Given the description of an element on the screen output the (x, y) to click on. 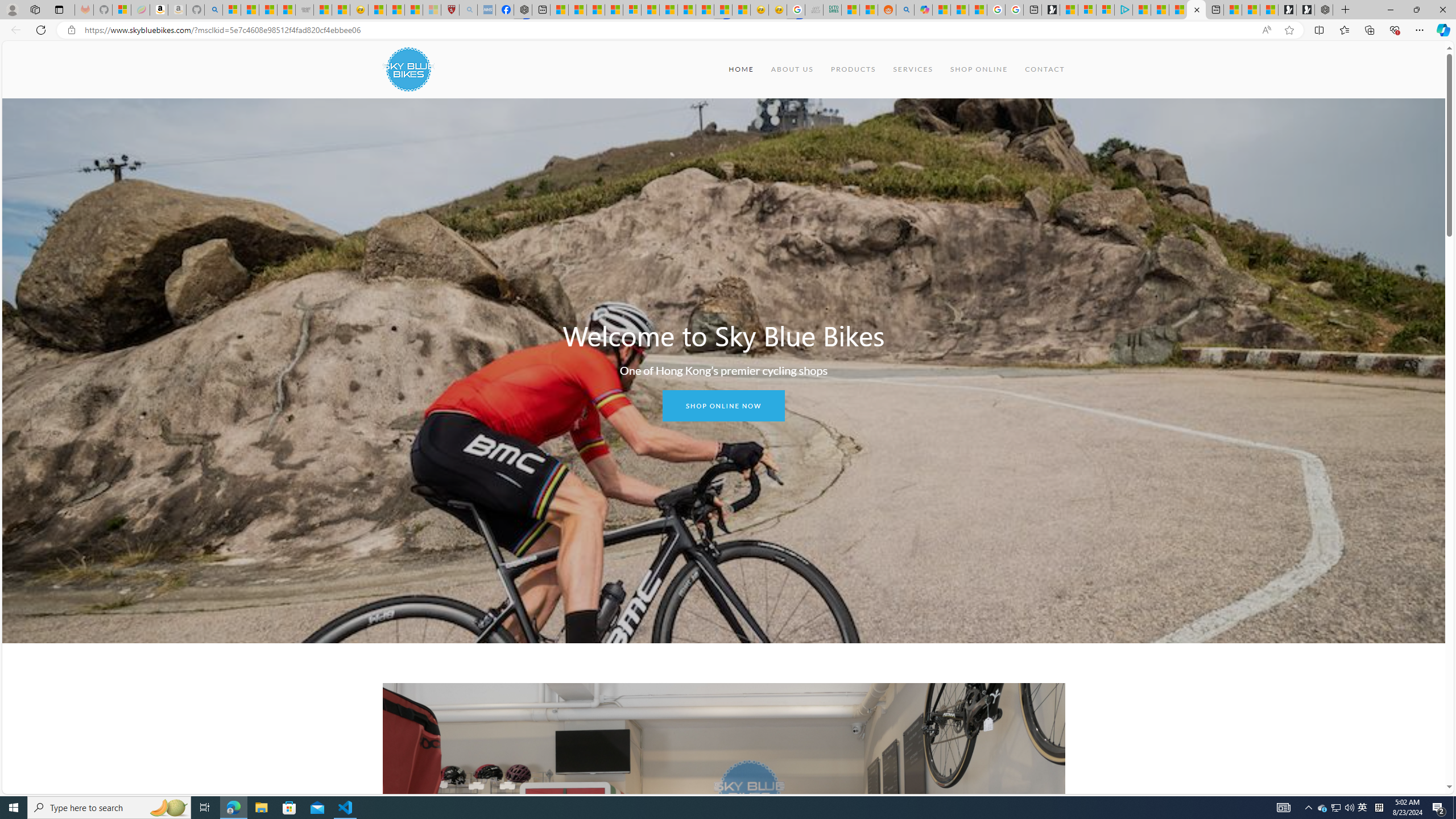
NCL Adult Asthma Inhaler Choice Guideline - Sleeping (486, 9)
Stocks - MSN (285, 9)
14 Common Myths Debunked By Scientific Facts (686, 9)
